Given the description of an element on the screen output the (x, y) to click on. 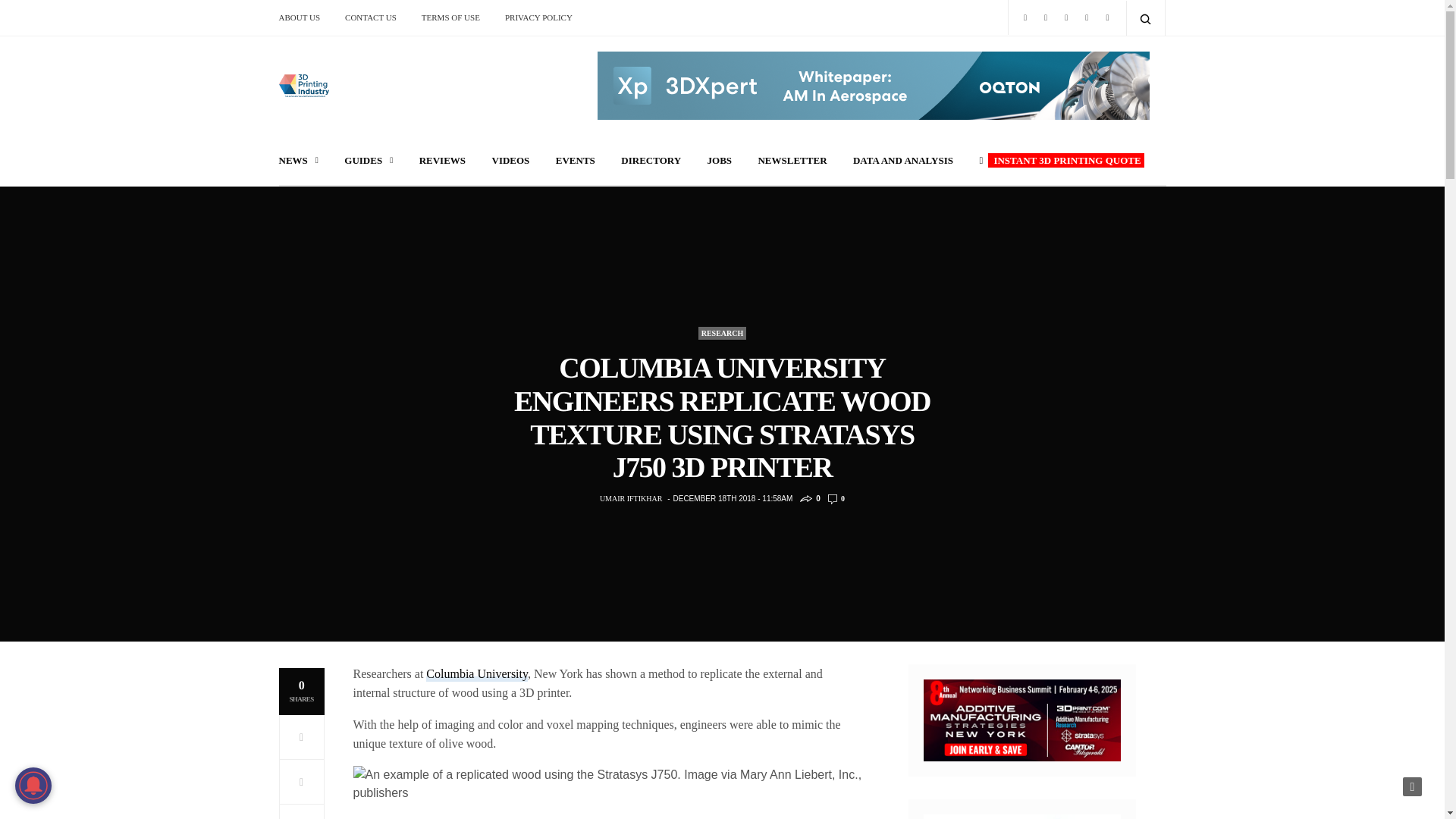
CONTACT US (370, 17)
TERMS OF USE (451, 17)
ABOUT US (305, 17)
PRIVACY POLICY (538, 17)
